Given the description of an element on the screen output the (x, y) to click on. 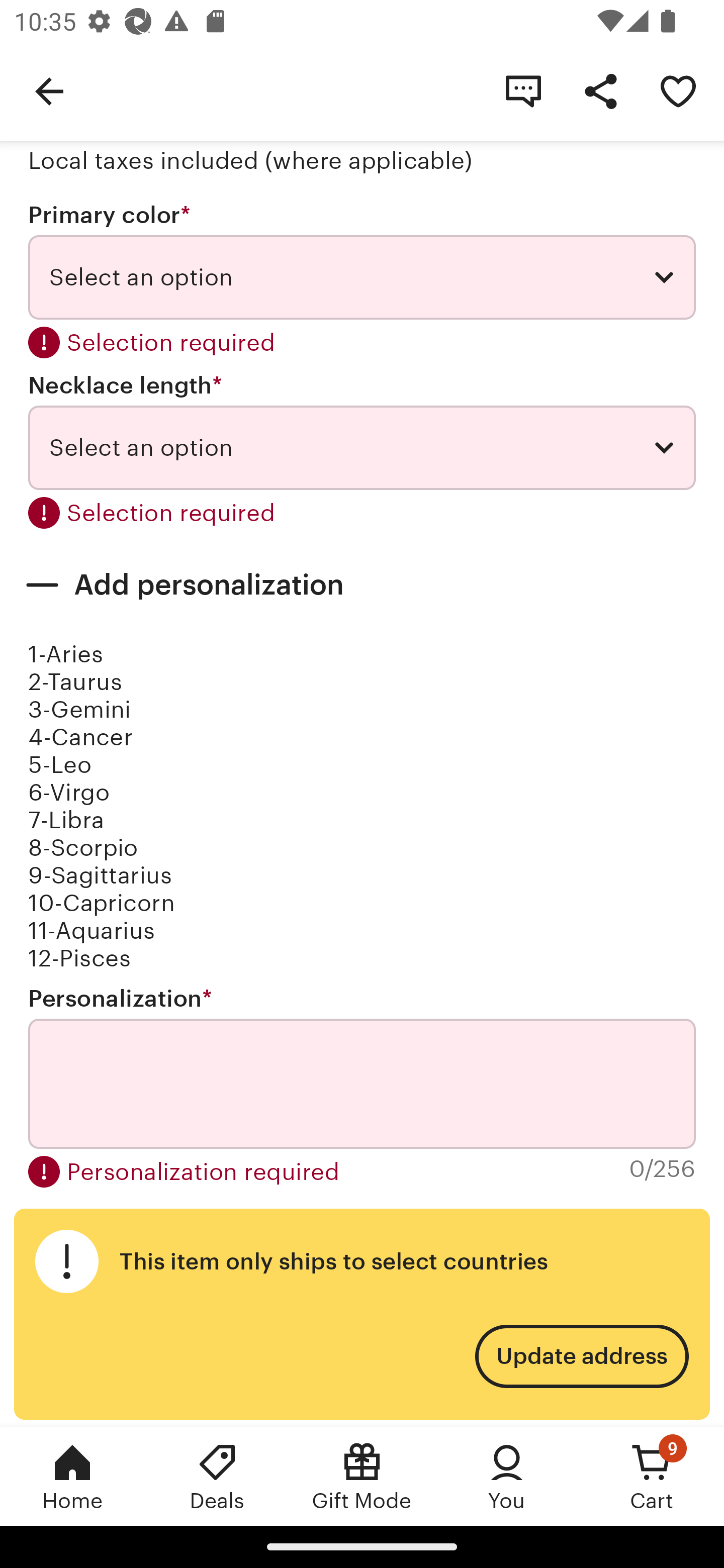
Navigate up (49, 90)
Contact shop (523, 90)
Share (600, 90)
Select an option (361, 277)
Select an option (361, 447)
Add personalization Add personalization Required (362, 584)
Update address (581, 1355)
Deals (216, 1475)
Gift Mode (361, 1475)
You (506, 1475)
Cart, 9 new notifications Cart (651, 1475)
